Given the description of an element on the screen output the (x, y) to click on. 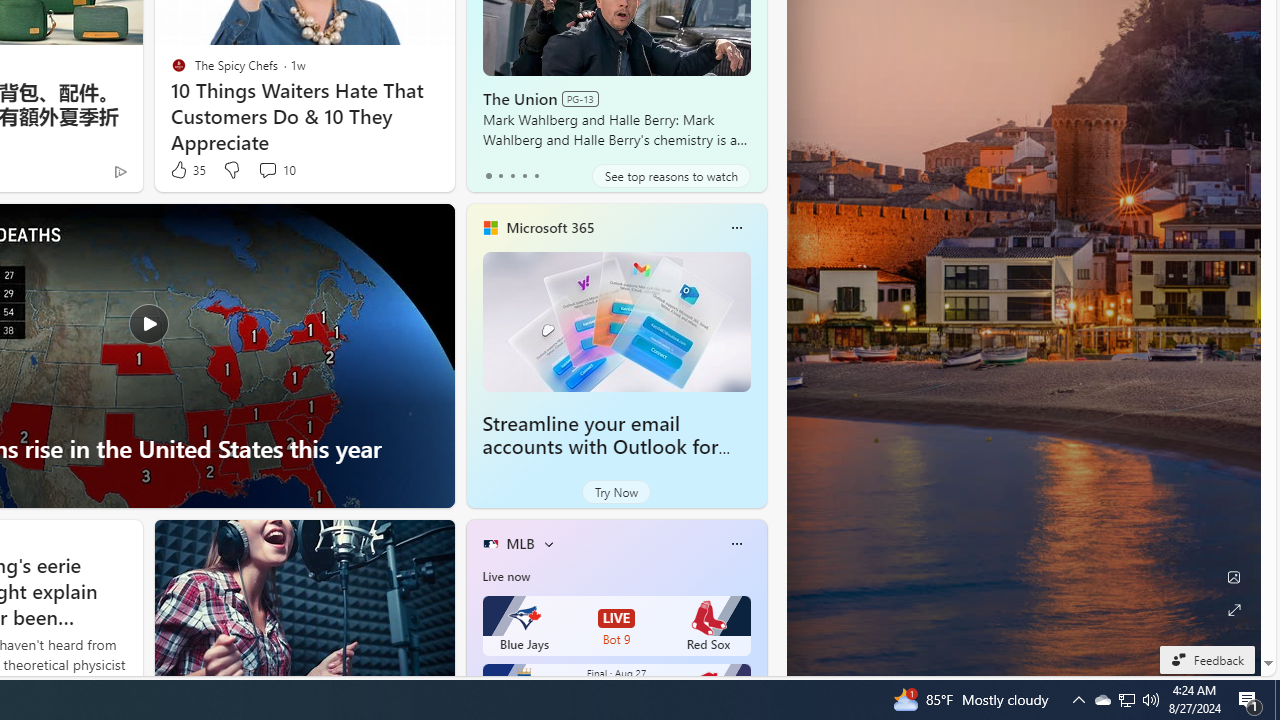
View comments 10 Comment (276, 170)
More interests (548, 543)
Streamline your email accounts with Outlook for Windows (616, 321)
tab-2 (511, 175)
Blue Jays LIVE Bot 9 Red Sox (616, 625)
More options (736, 543)
tab-0 (488, 175)
MLB (520, 543)
